Given the description of an element on the screen output the (x, y) to click on. 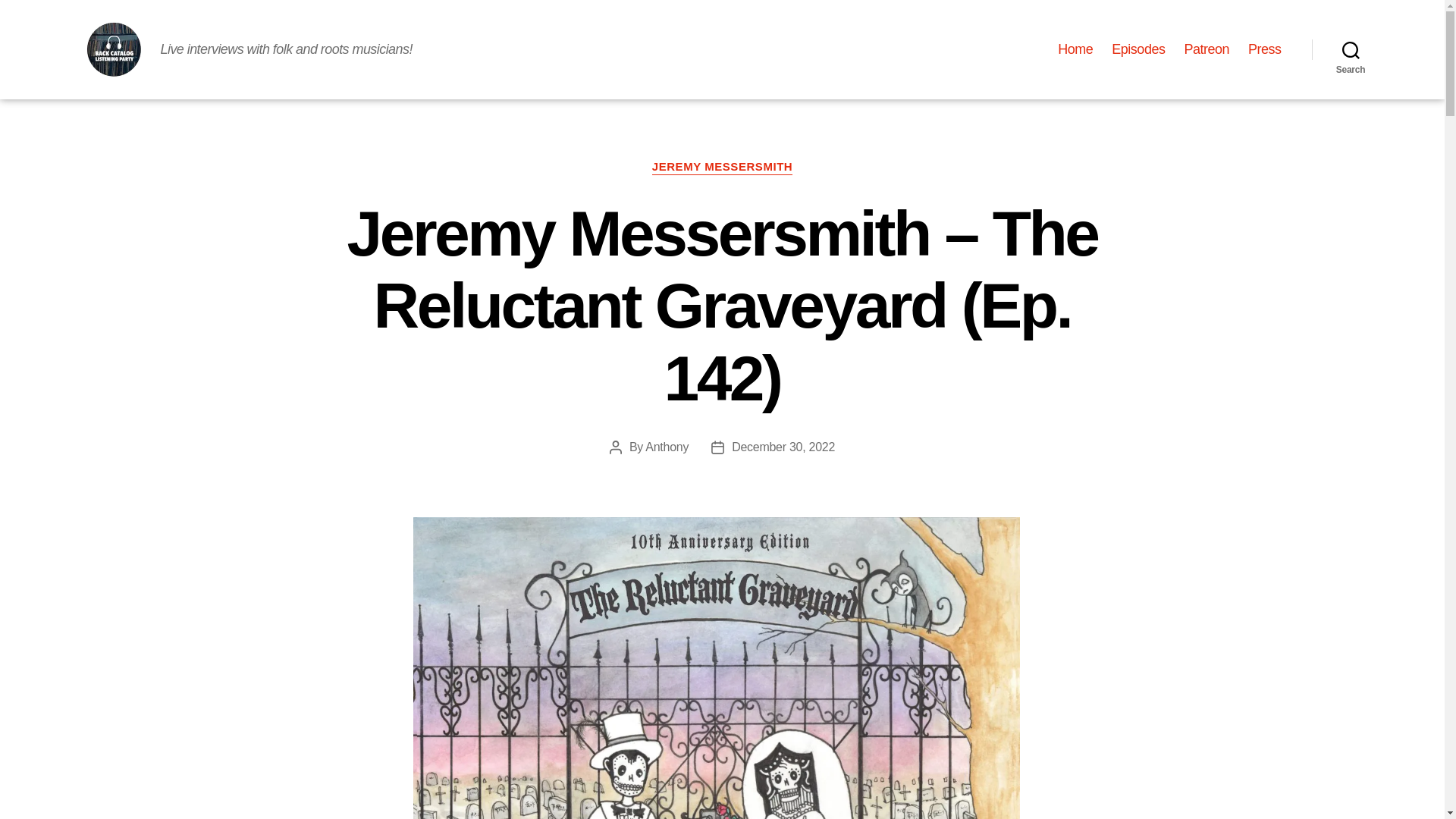
Press (1264, 49)
Episodes (1138, 49)
Anthony (666, 446)
December 30, 2022 (783, 446)
Home (1075, 49)
JEREMY MESSERSMITH (722, 167)
Search (1350, 49)
Patreon (1205, 49)
